Given the description of an element on the screen output the (x, y) to click on. 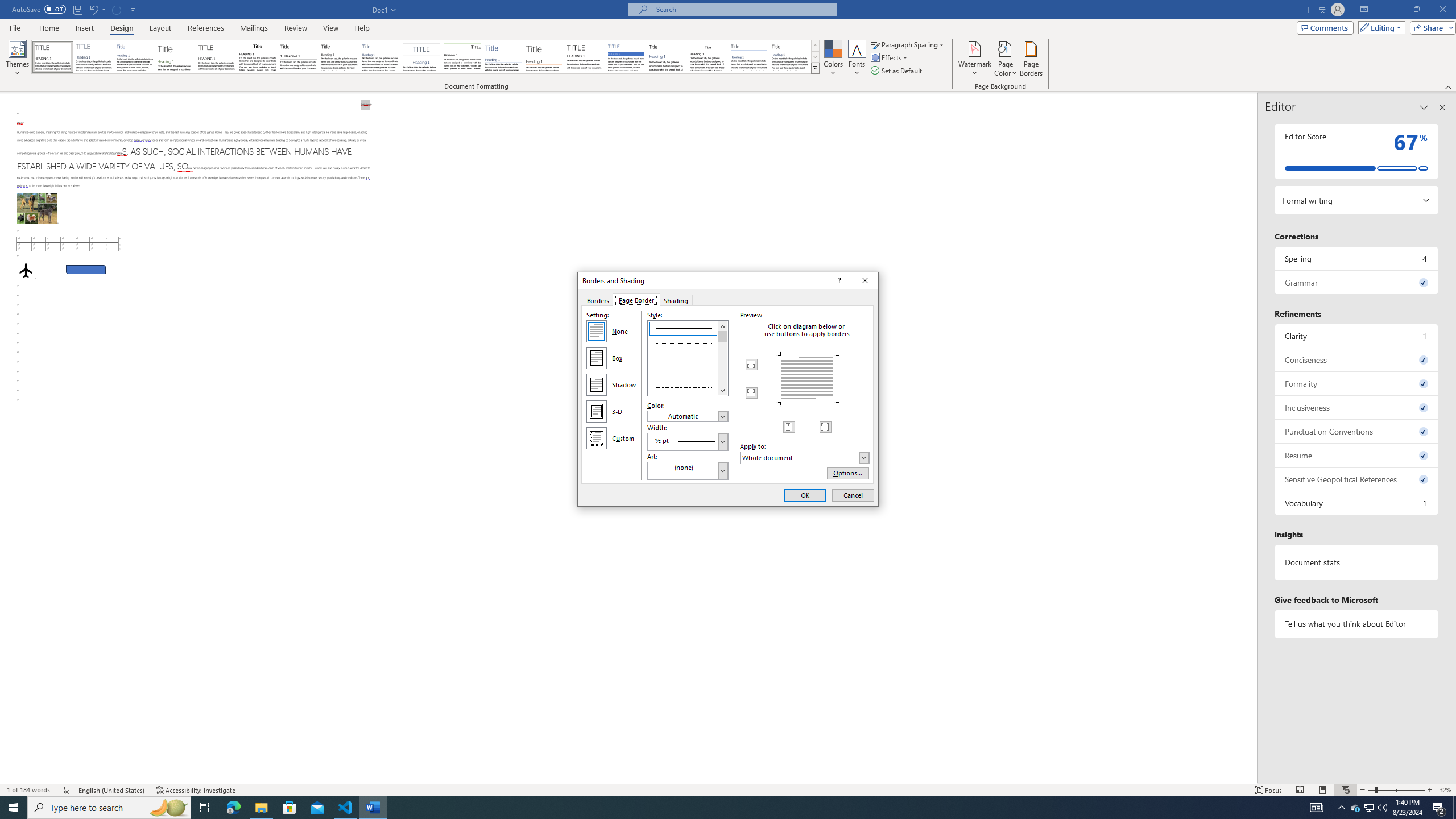
Shading (676, 299)
Class: MsoCommandBar (728, 45)
Fonts (856, 58)
None (596, 331)
Cancel (853, 495)
Dotted (687, 341)
Microsoft Store (289, 807)
Shaded (625, 56)
Word 2010 (749, 56)
